Given the description of an element on the screen output the (x, y) to click on. 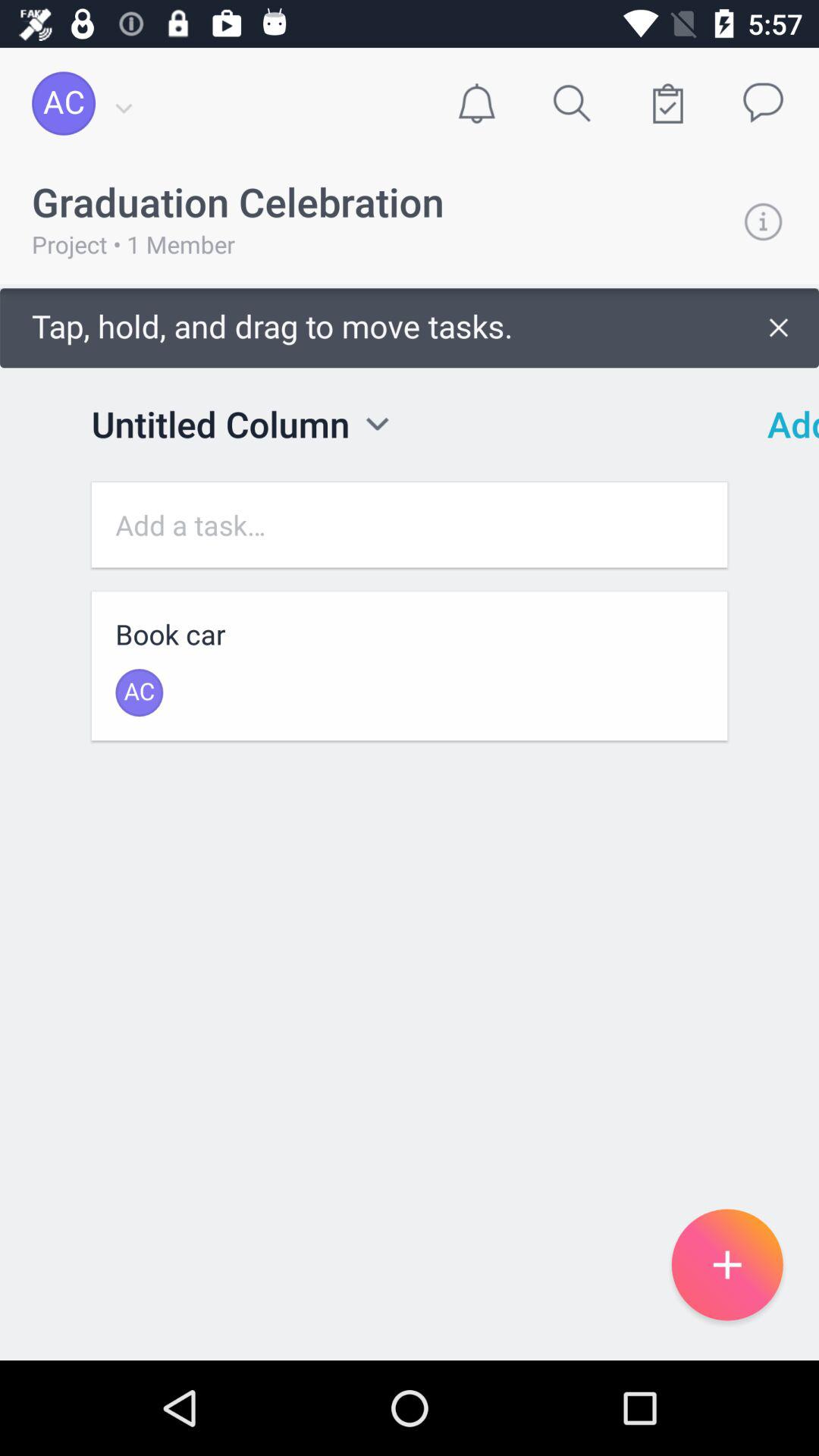
launch icon below untitled column item (409, 524)
